Given the description of an element on the screen output the (x, y) to click on. 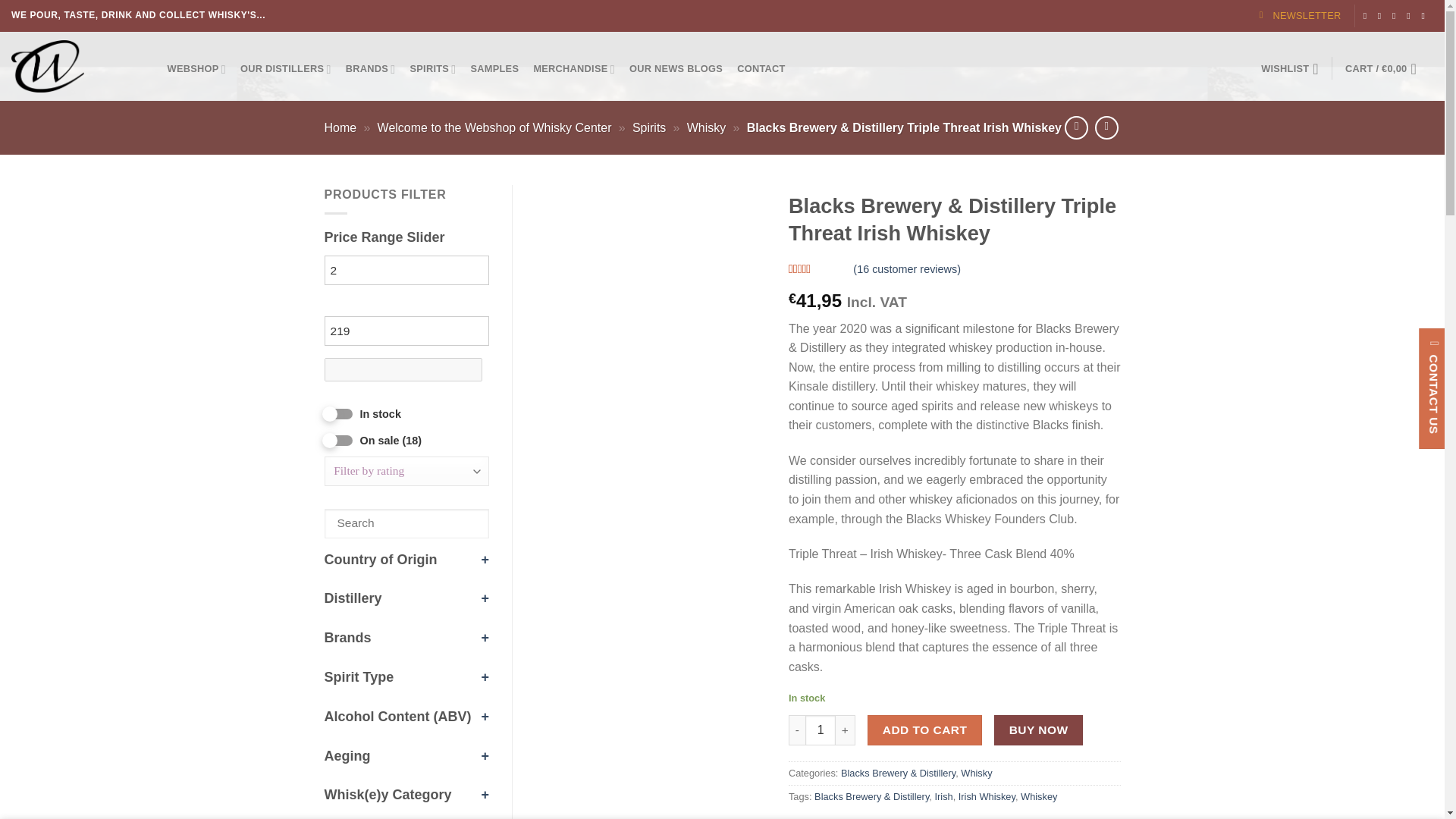
Whisky Center - Welcome to Whisky Center (73, 65)
Wishlist (1289, 68)
Sign up for Newsletter (1300, 15)
BRANDS (370, 69)
2 (406, 270)
Cart (1385, 68)
NEWSLETTER (1300, 15)
Home (340, 127)
219 (406, 330)
OUR DISTILLERS (284, 69)
